Given the description of an element on the screen output the (x, y) to click on. 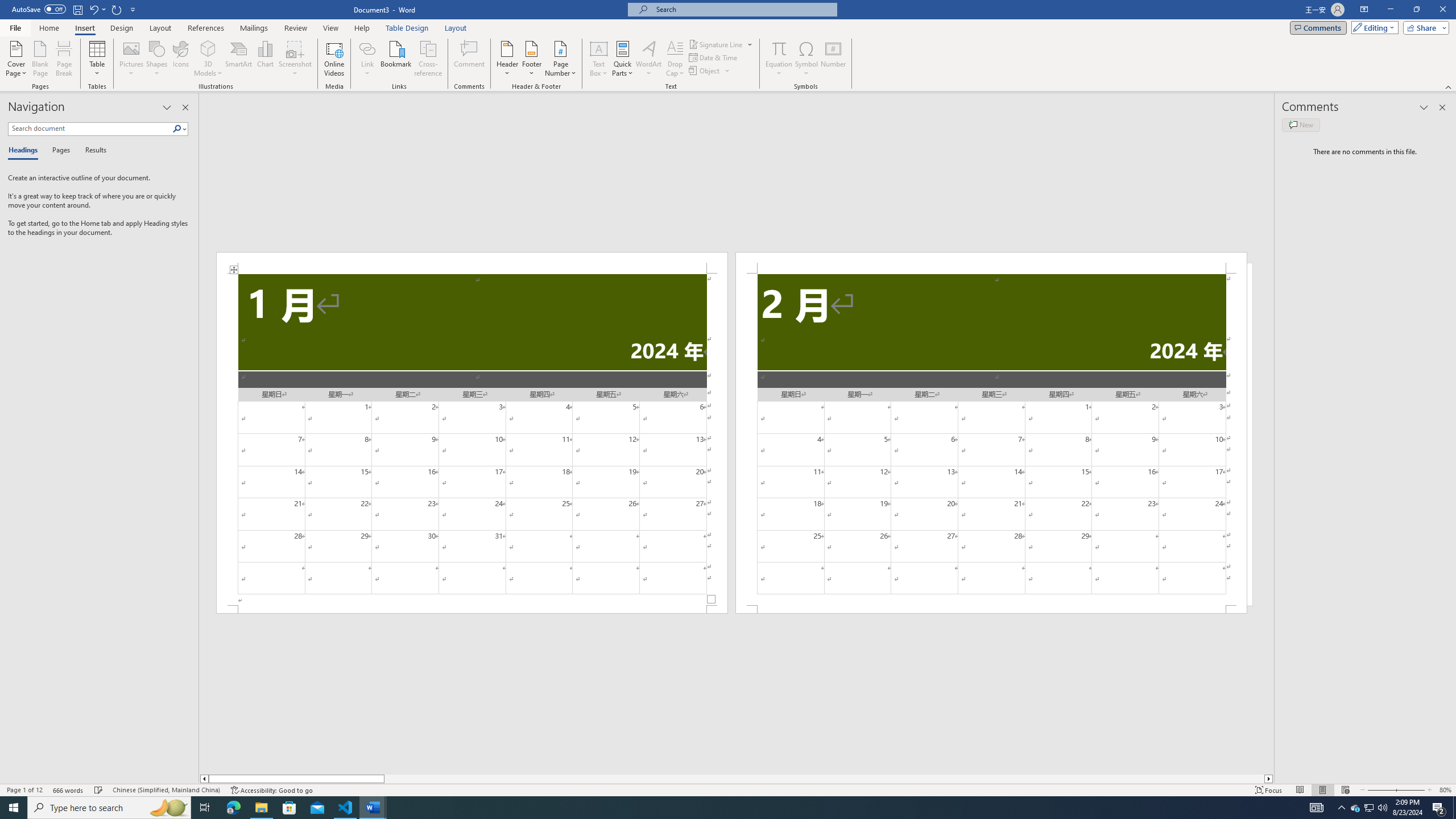
Footer -Section 2- (991, 609)
Cover Page (16, 58)
Undo Increase Indent (96, 9)
Date & Time... (714, 56)
Page 1 content (471, 439)
Object... (709, 69)
Shapes (156, 58)
Close pane (185, 107)
Chart... (265, 58)
